Given the description of an element on the screen output the (x, y) to click on. 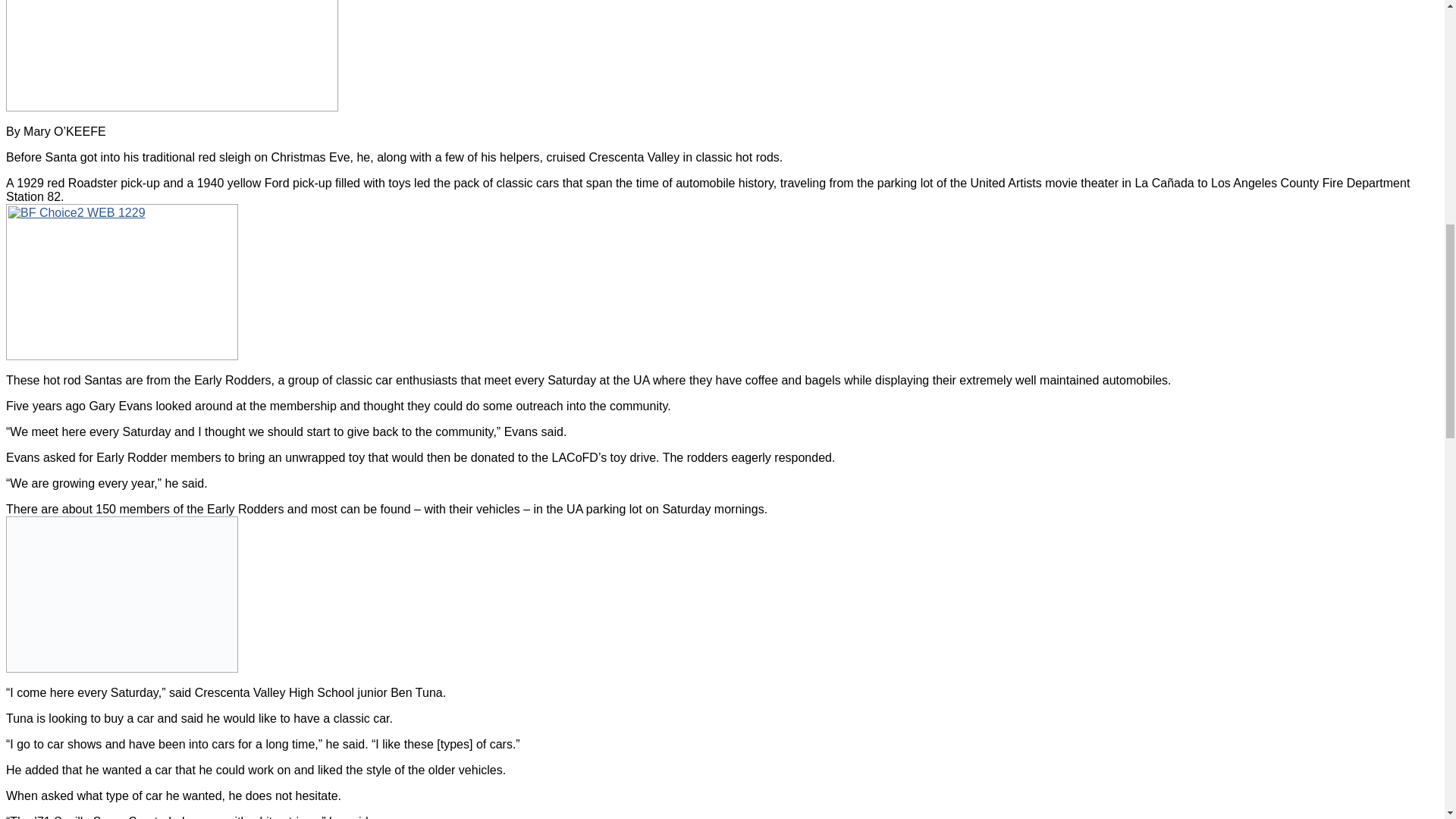
BF Choice3 WEB 1229 (121, 594)
BF Choice2 WEB 1229 (121, 281)
BF Choice1 WEB 1229 (171, 55)
